Given the description of an element on the screen output the (x, y) to click on. 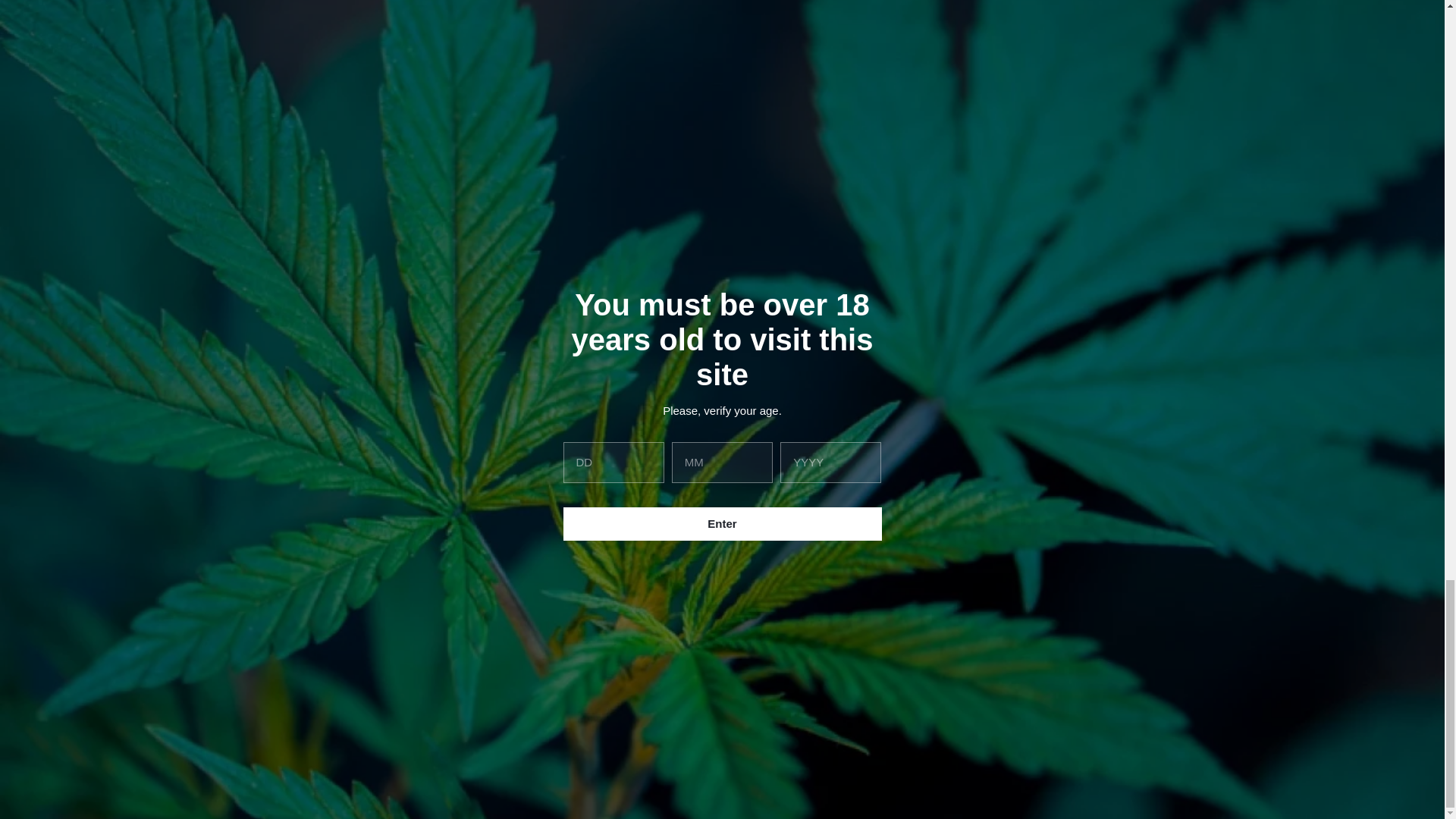
The Nose Knows (721, 269)
We All Go A Little Mad Sometimes (967, 277)
0 (1046, 330)
Call The Pocket (555, 330)
0 (685, 330)
Back to top (800, 330)
0 (476, 269)
See All (931, 330)
